Given the description of an element on the screen output the (x, y) to click on. 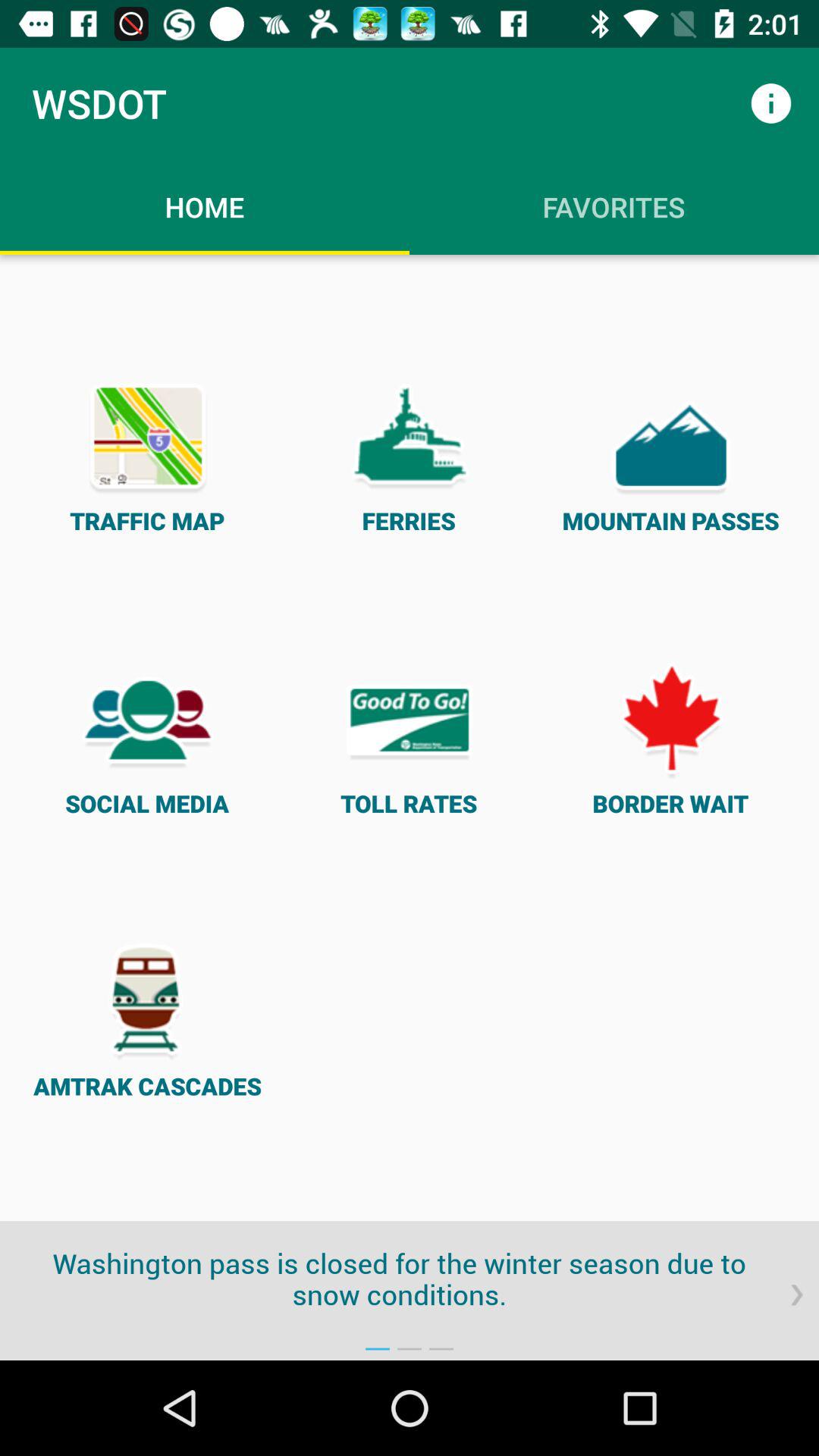
click item next to toll rates item (147, 737)
